Given the description of an element on the screen output the (x, y) to click on. 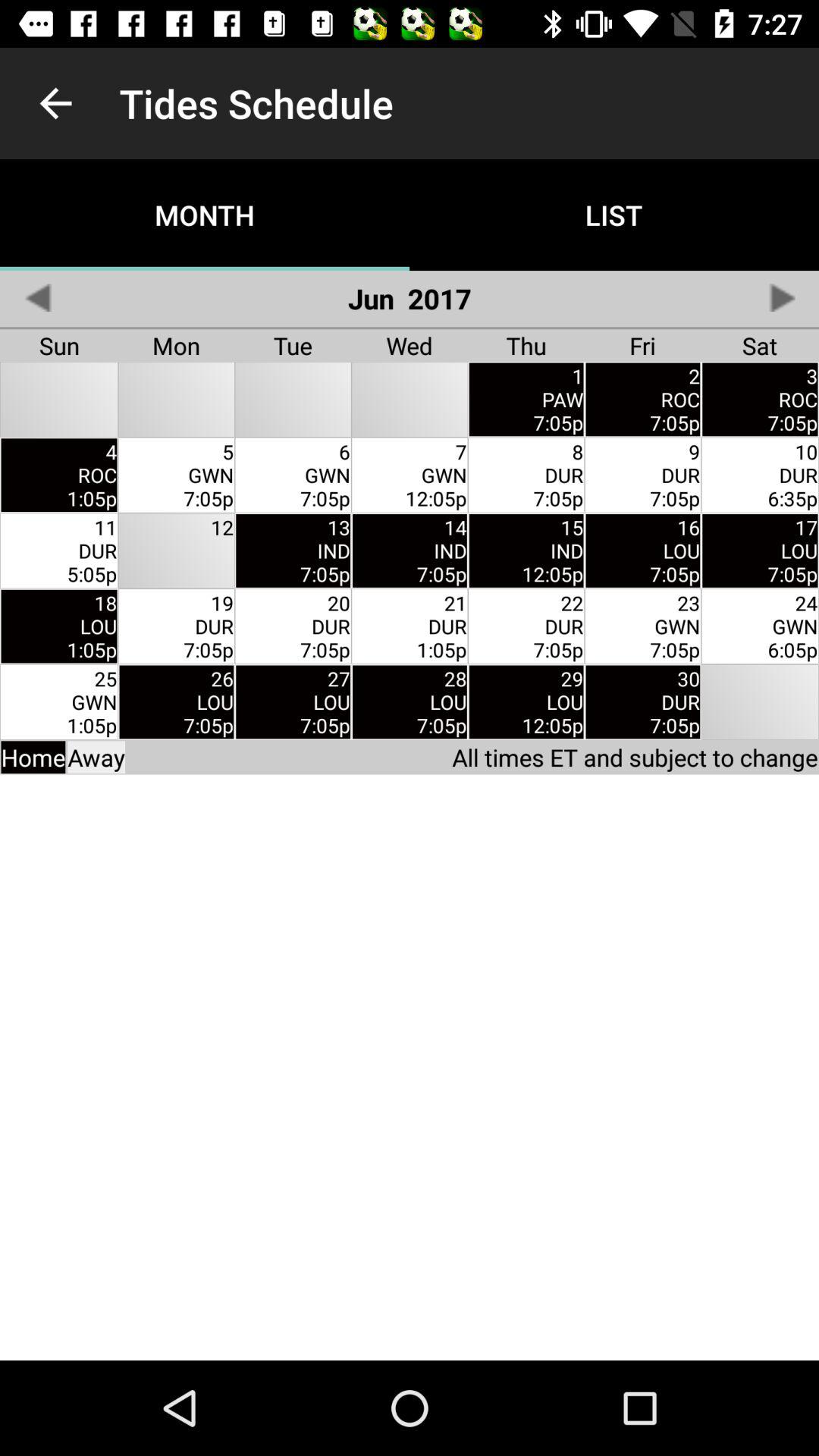
open the item to the left of tides schedule (55, 103)
